Given the description of an element on the screen output the (x, y) to click on. 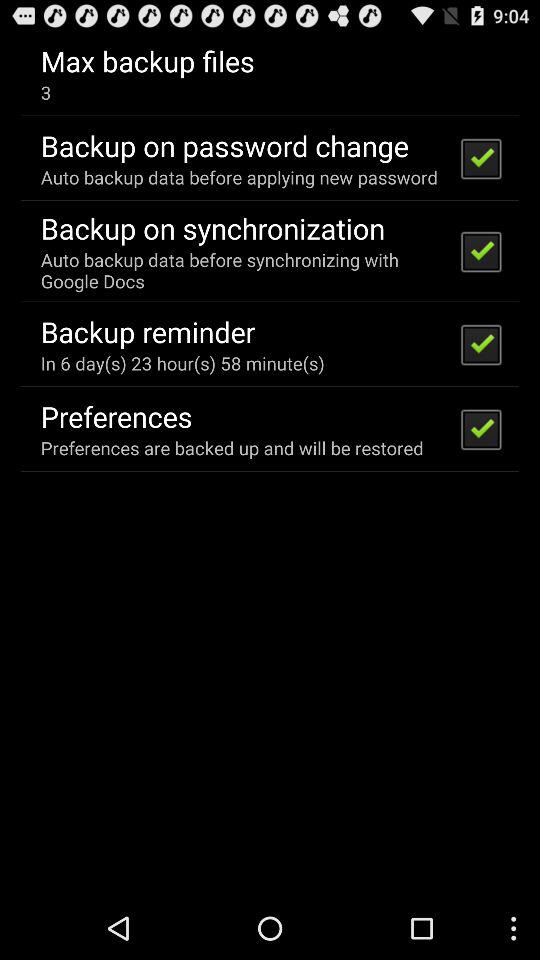
choose the in 6 day item (182, 362)
